Given the description of an element on the screen output the (x, y) to click on. 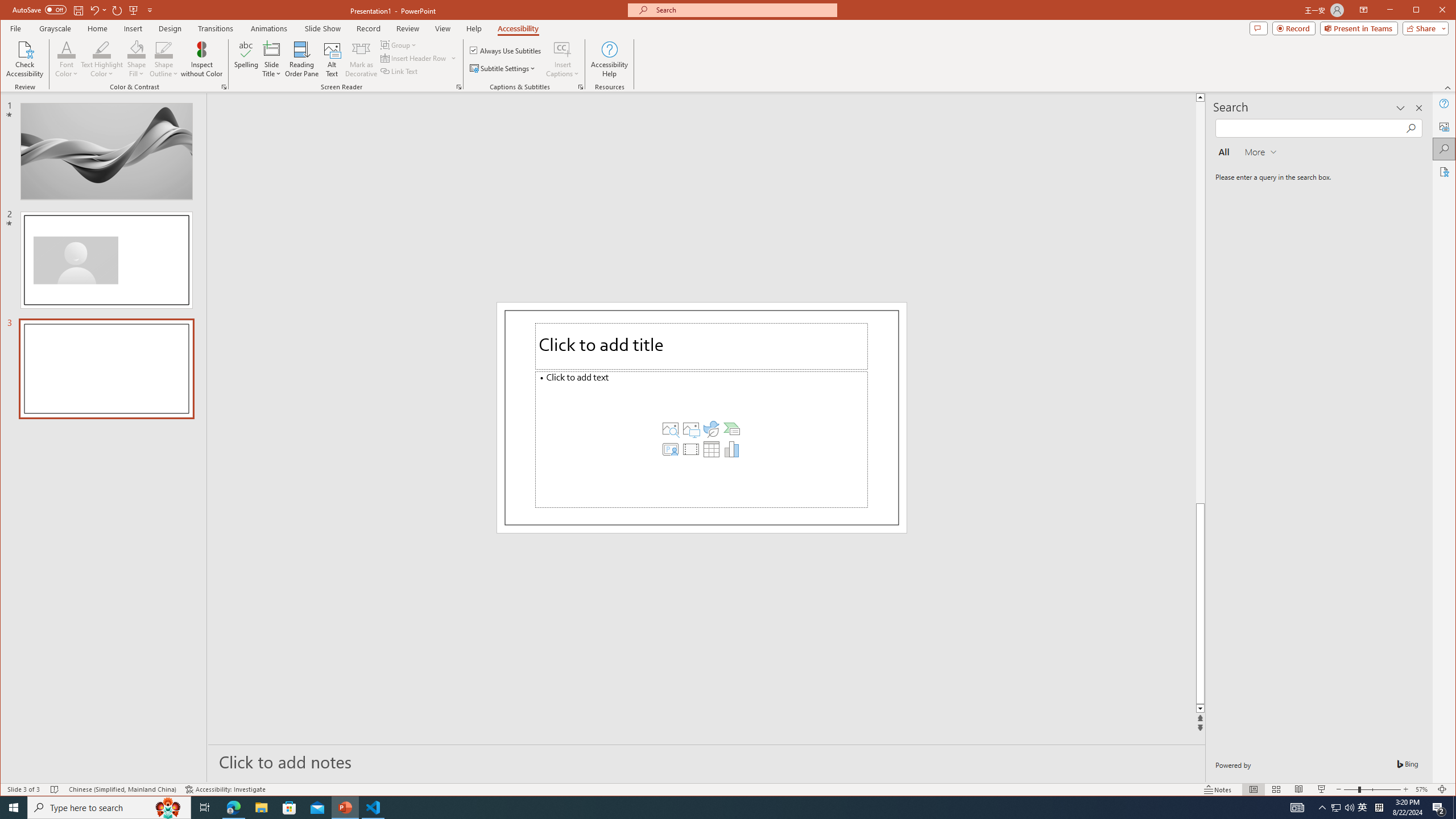
Always Use Subtitles (505, 49)
Captions & Subtitles (580, 86)
Color & Contrast (223, 86)
Link Text (399, 70)
Mark as Decorative (360, 59)
